Given the description of an element on the screen output the (x, y) to click on. 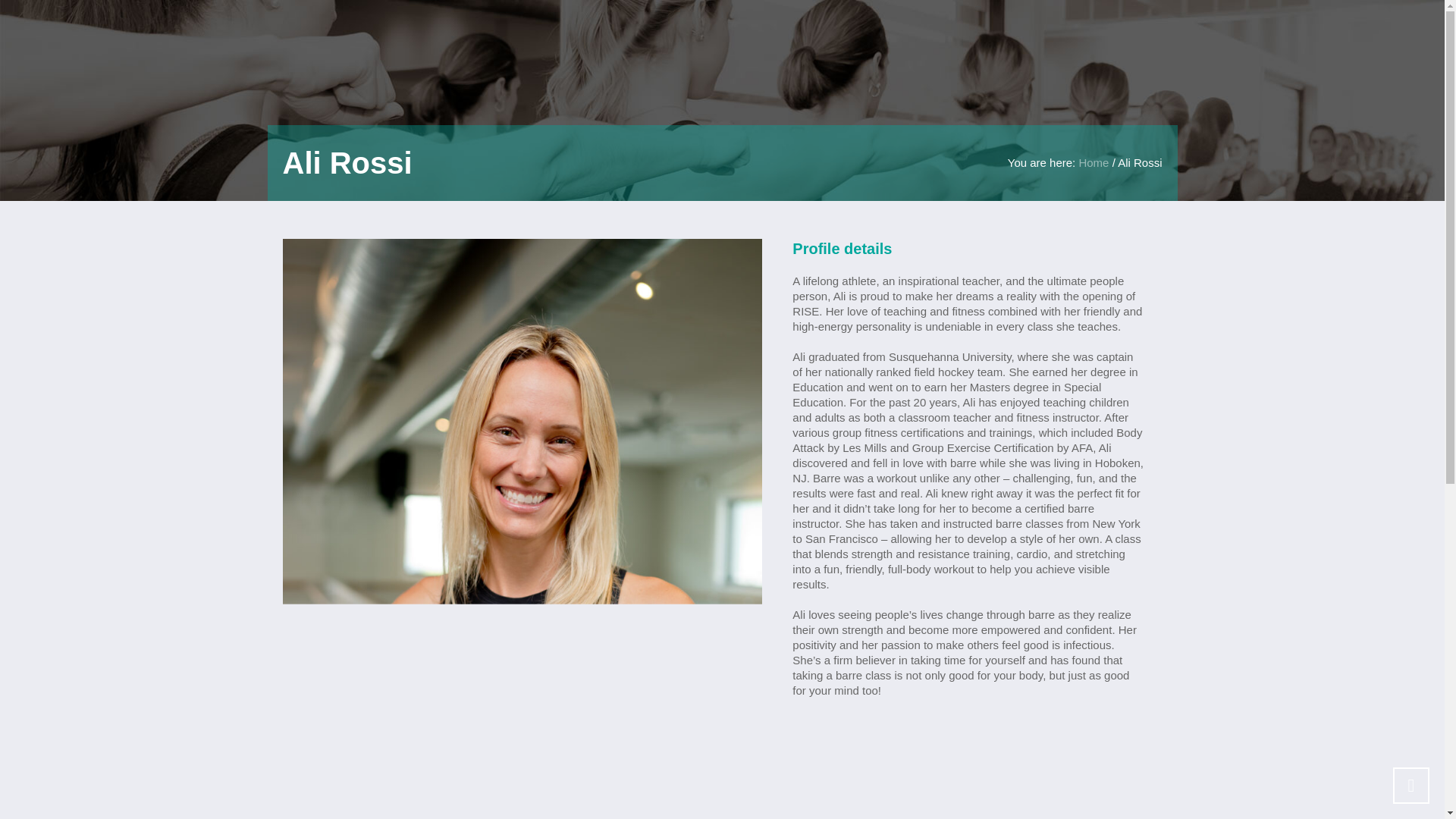
Home (1093, 162)
Facebook (748, 648)
